Given the description of an element on the screen output the (x, y) to click on. 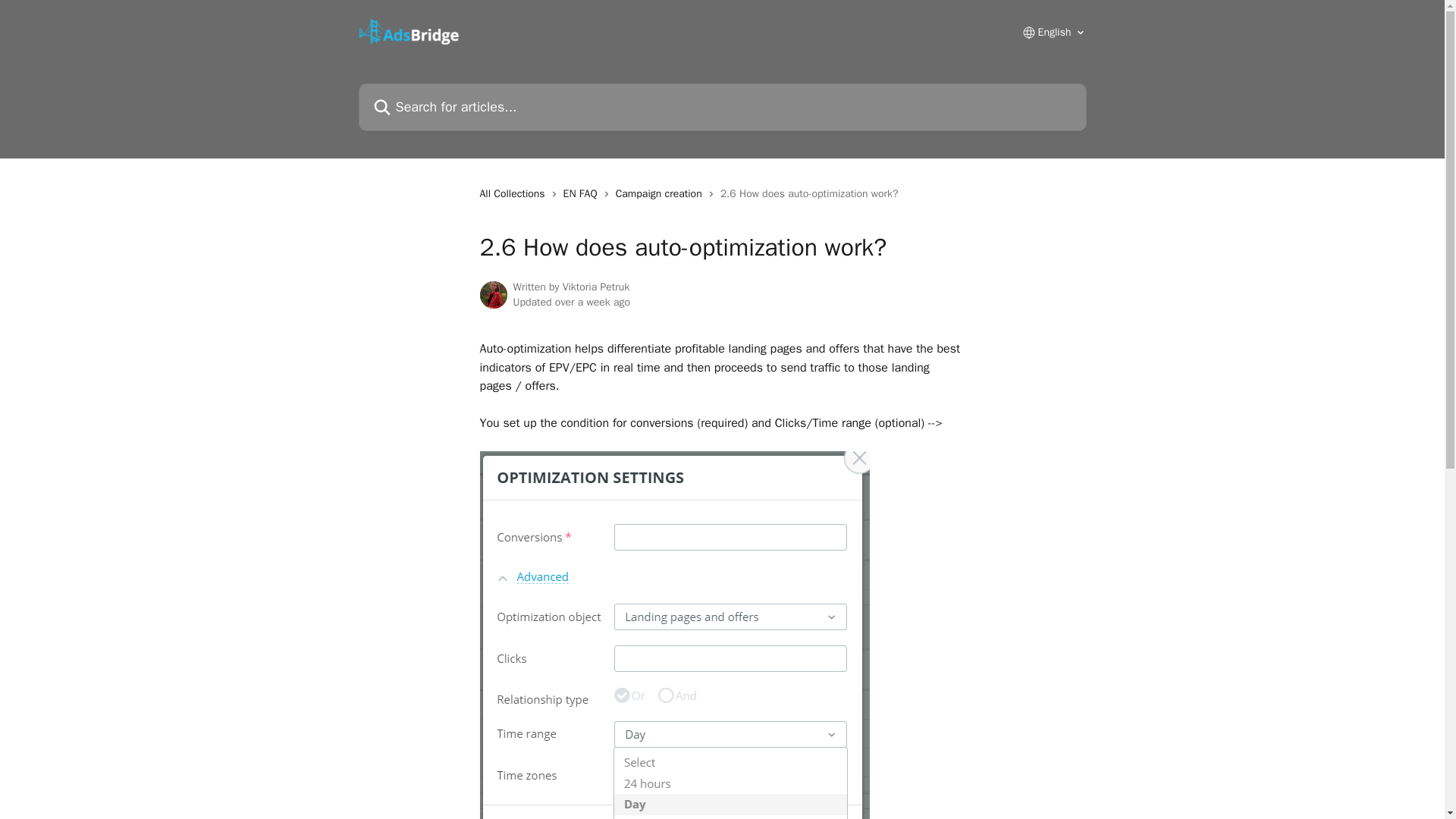
Campaign creation (661, 193)
EN FAQ (583, 193)
All Collections (514, 193)
